Given the description of an element on the screen output the (x, y) to click on. 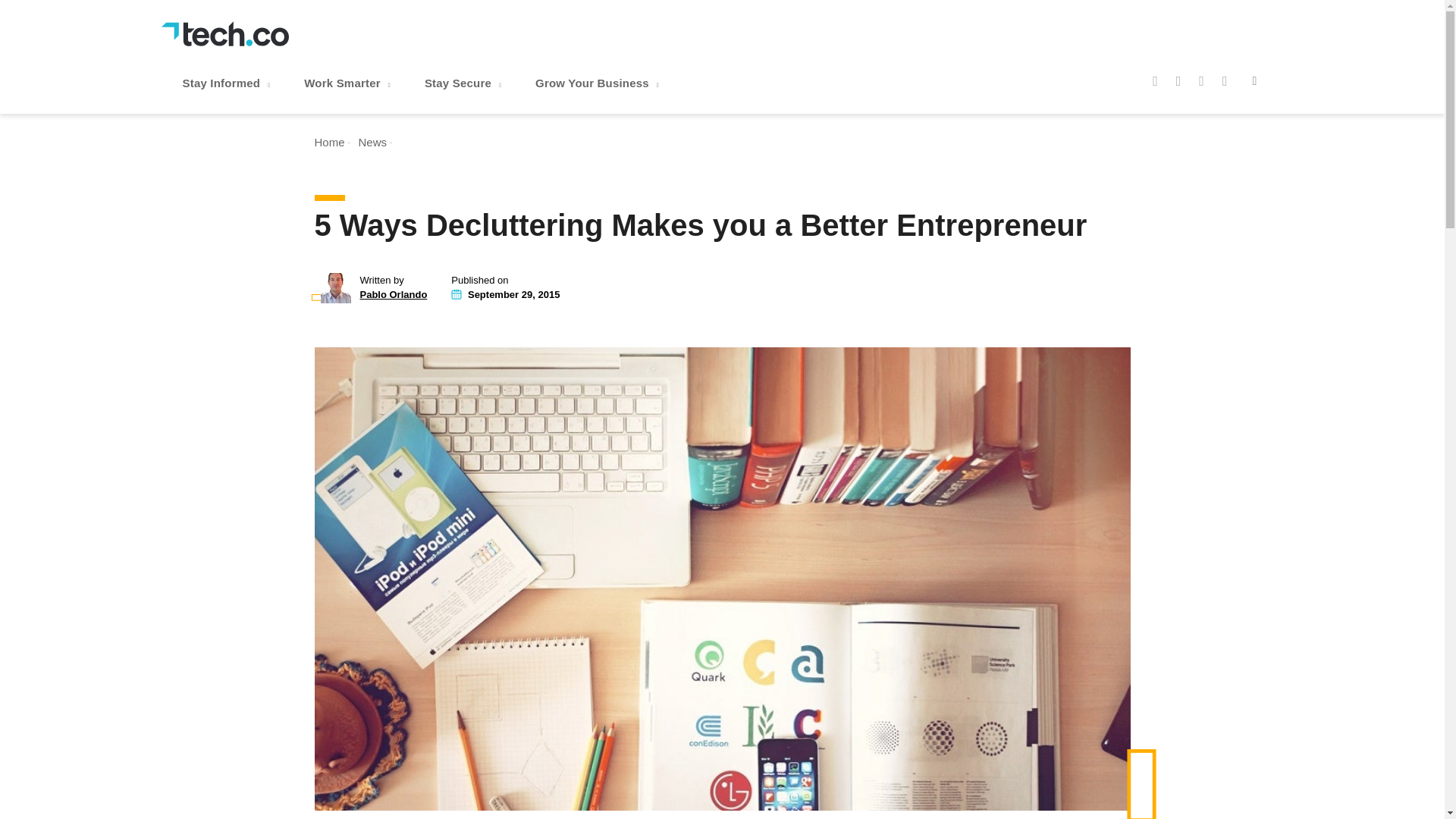
Stay Secure (464, 83)
Work Smarter (348, 83)
Grow Your Business (598, 83)
Stay Informed (227, 83)
